Given the description of an element on the screen output the (x, y) to click on. 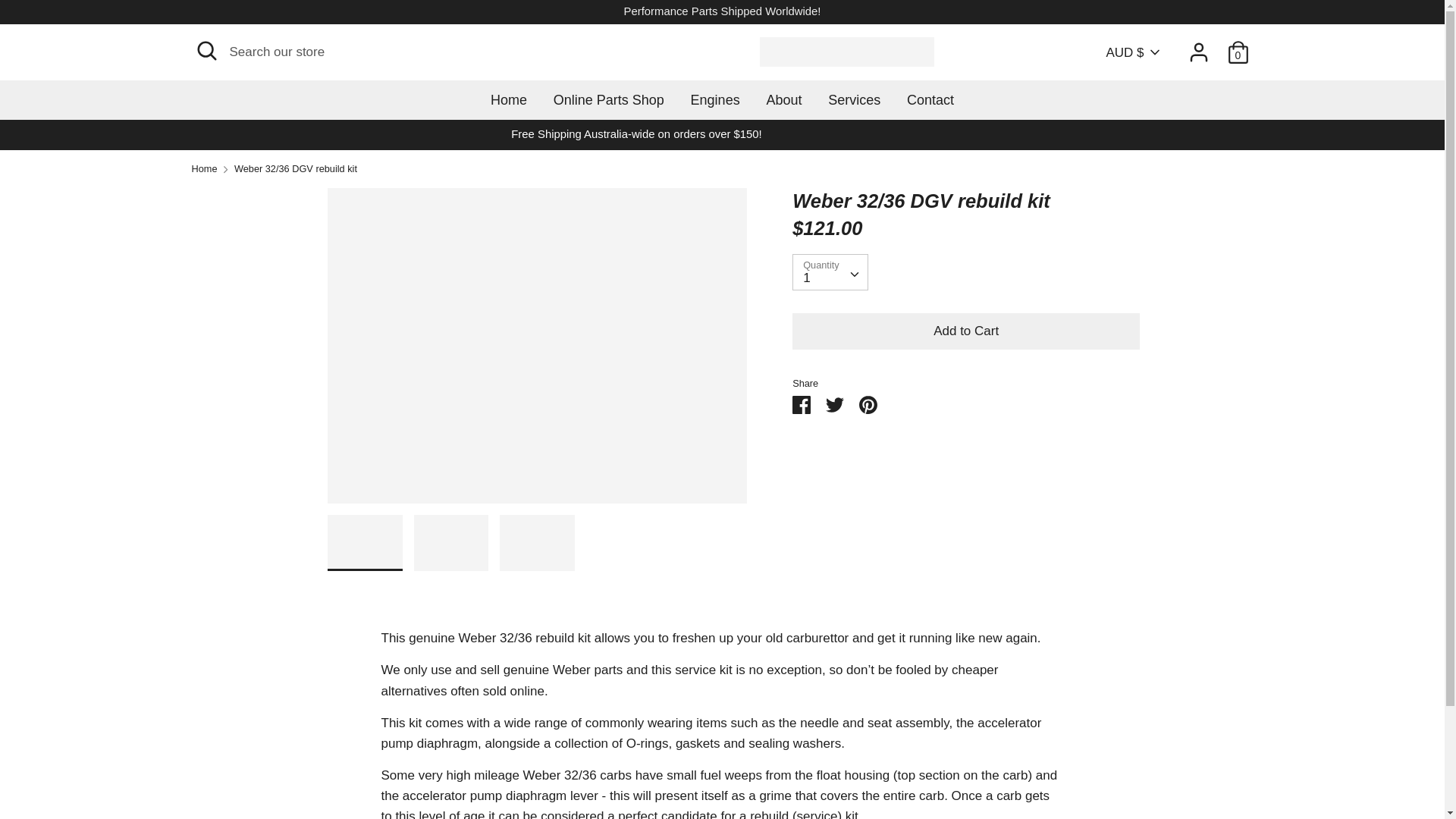
Shop Pay (1168, 769)
Google Pay (1066, 769)
1 (830, 271)
American Express (999, 769)
Mastercard (1101, 769)
Visa (1236, 769)
PayPal (1135, 769)
Union Pay (1203, 769)
Apple Pay (1033, 769)
